Given the description of an element on the screen output the (x, y) to click on. 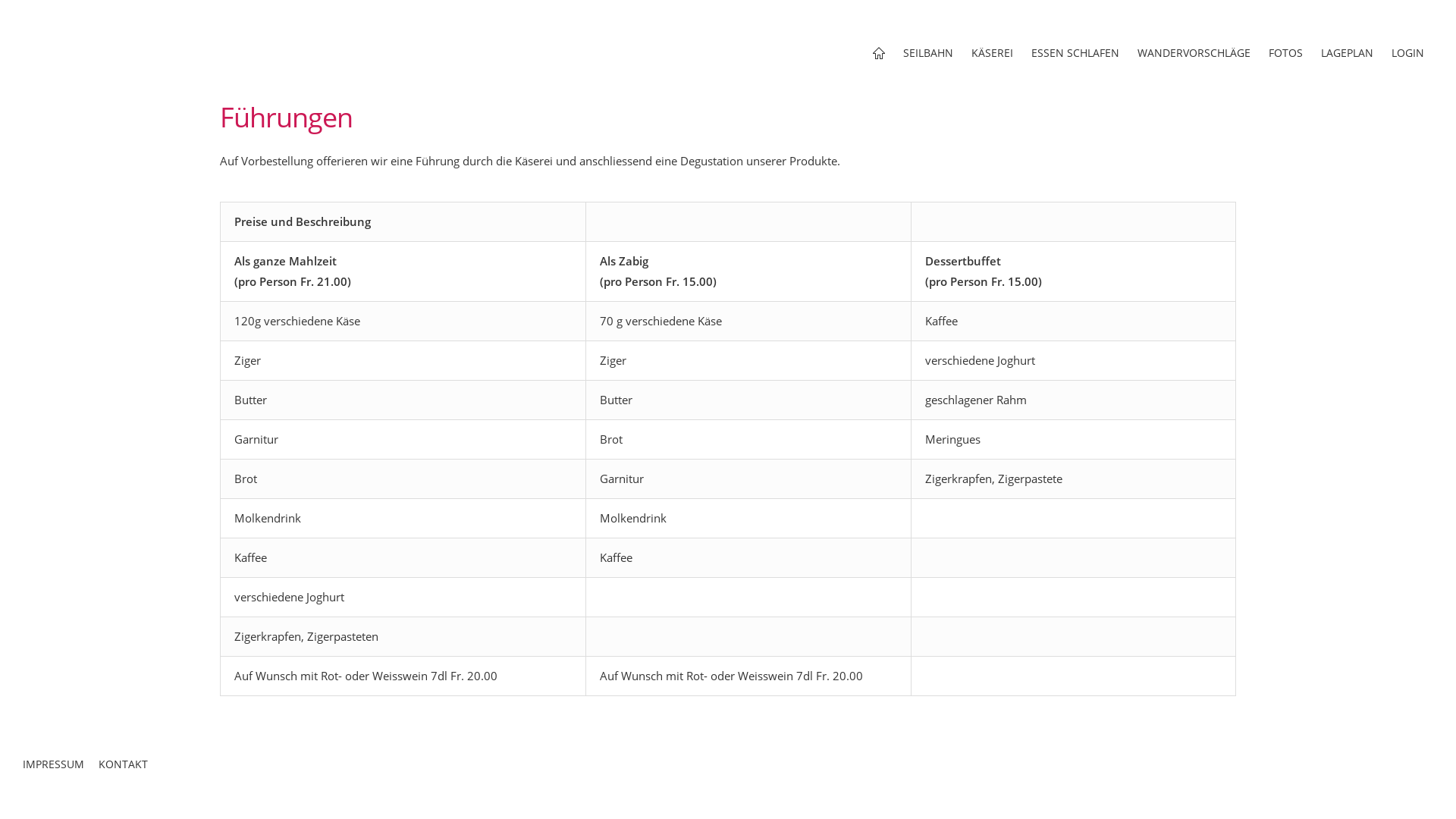
KONTAKT Element type: text (128, 769)
LAGEPLAN Element type: text (1347, 53)
IMPRESSUM Element type: text (58, 769)
ESSEN SCHLAFEN Element type: text (1075, 53)
FOTOS Element type: text (1285, 53)
LOGIN Element type: text (1407, 53)
SEILBAHN Element type: text (928, 53)
